Given the description of an element on the screen output the (x, y) to click on. 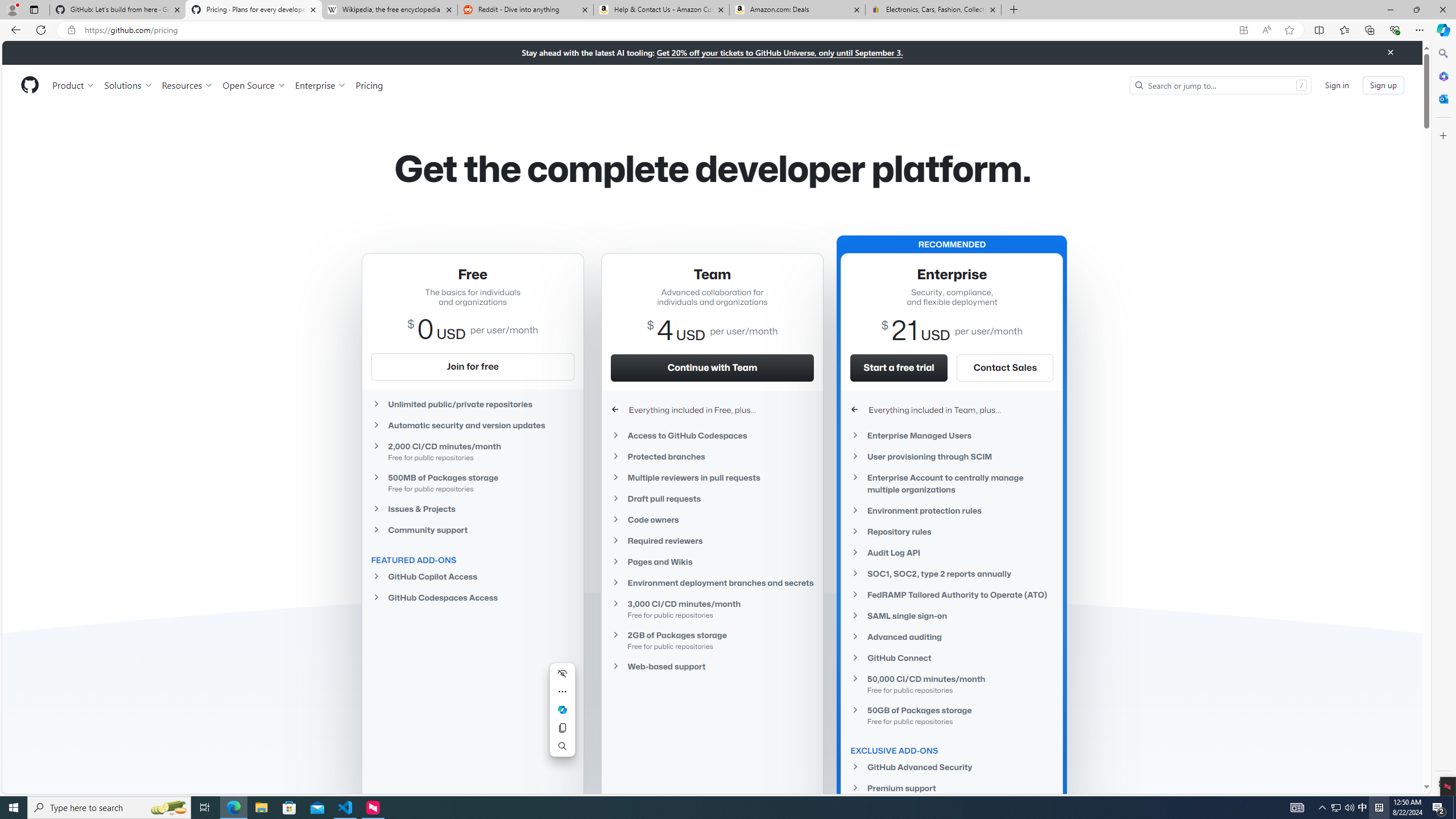
Copy (562, 728)
FedRAMP Tailored Authority to Operate (ATO) (952, 594)
Code owners (711, 519)
Repository rules (952, 531)
Audit Log API (952, 552)
Code owners (711, 519)
2GB of Packages storageFree for public repositories (711, 640)
2,000 CI/CD minutes/monthFree for public repositories (473, 450)
50GB of Packages storage Free for public repositories (952, 715)
Start a free trial (898, 367)
Automatic security and version updates (473, 425)
